Given the description of an element on the screen output the (x, y) to click on. 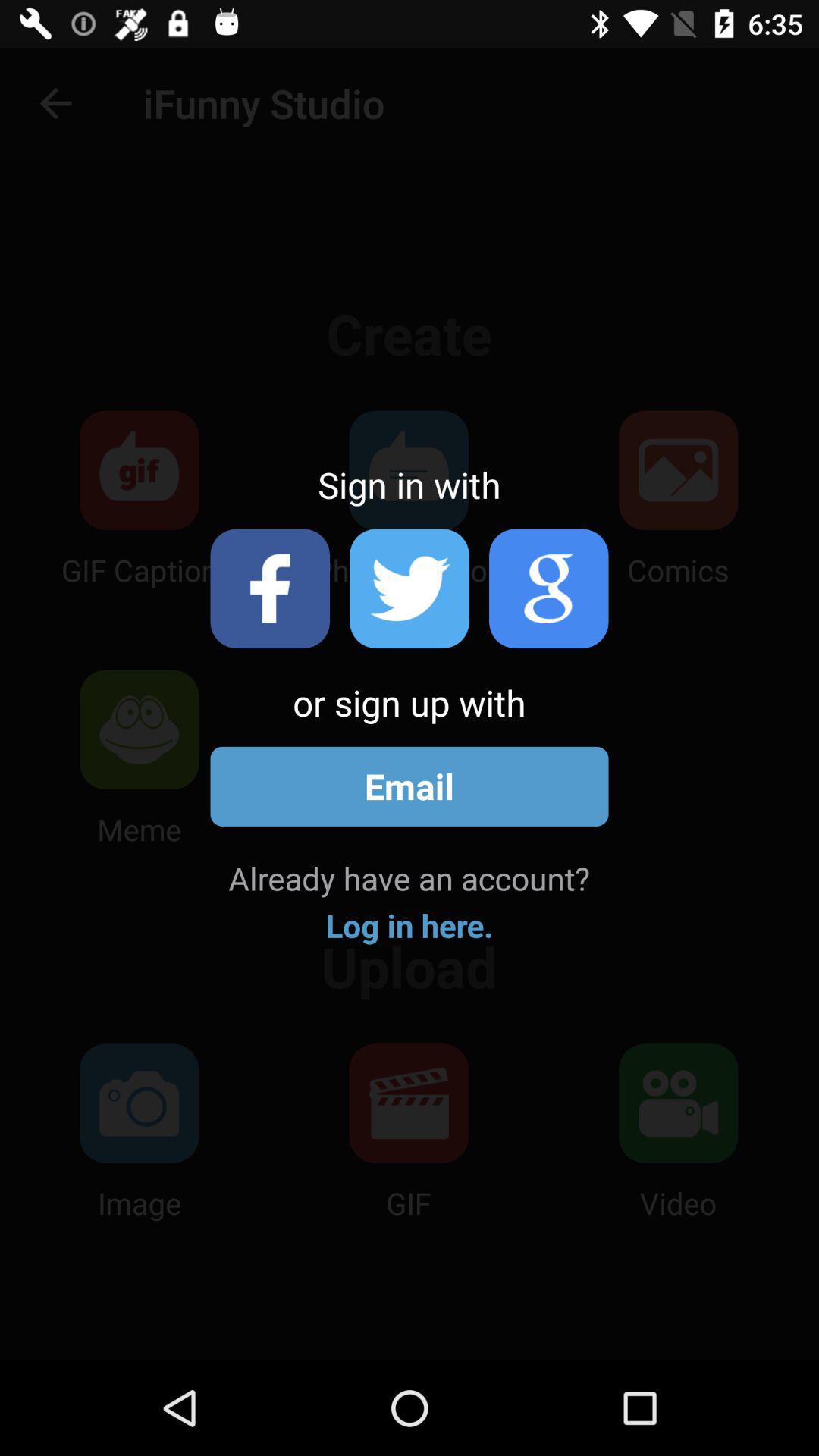
google account sign in (548, 588)
